Given the description of an element on the screen output the (x, y) to click on. 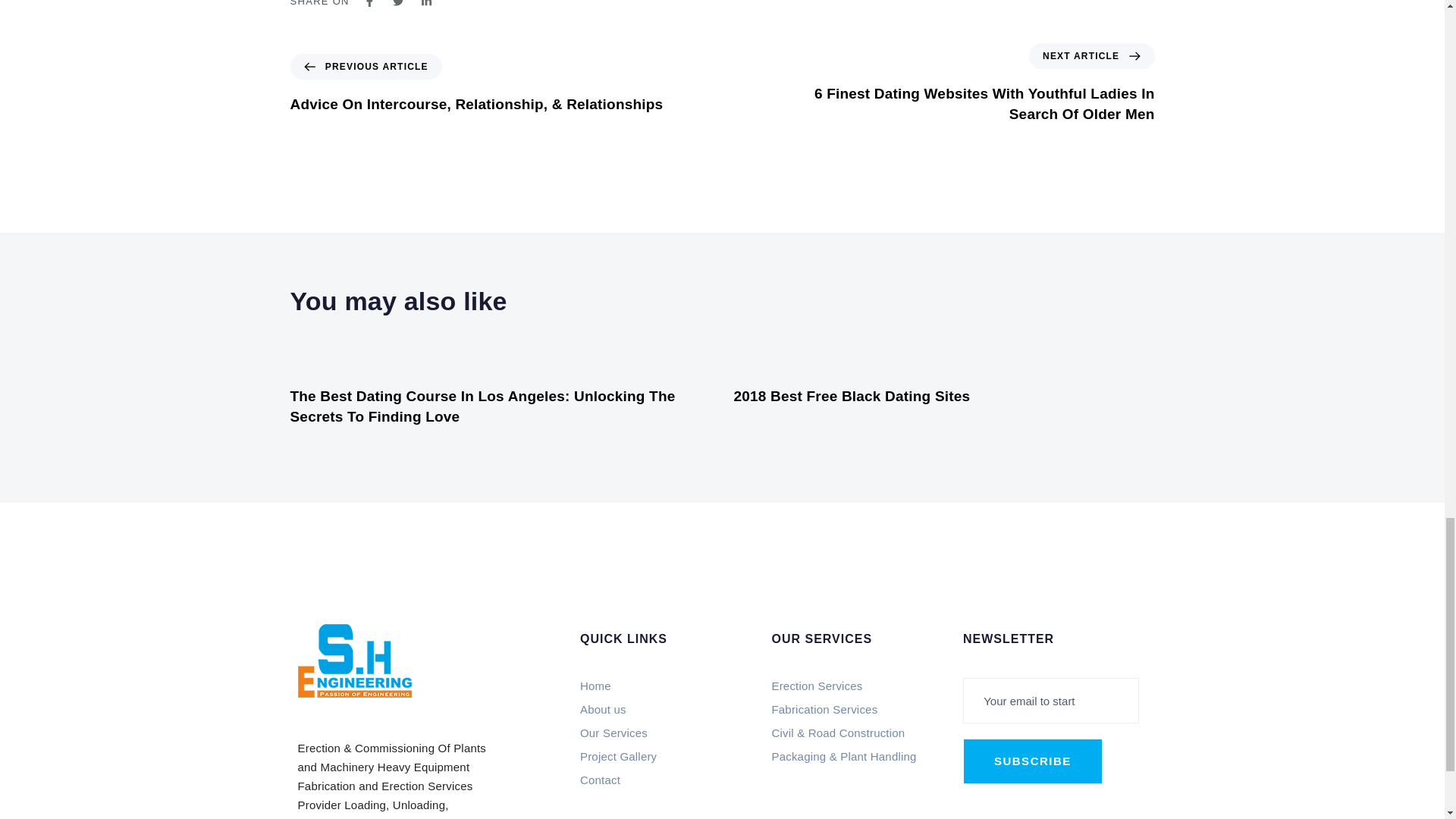
2018 Best Free Black Dating Sites (852, 396)
